Given the description of an element on the screen output the (x, y) to click on. 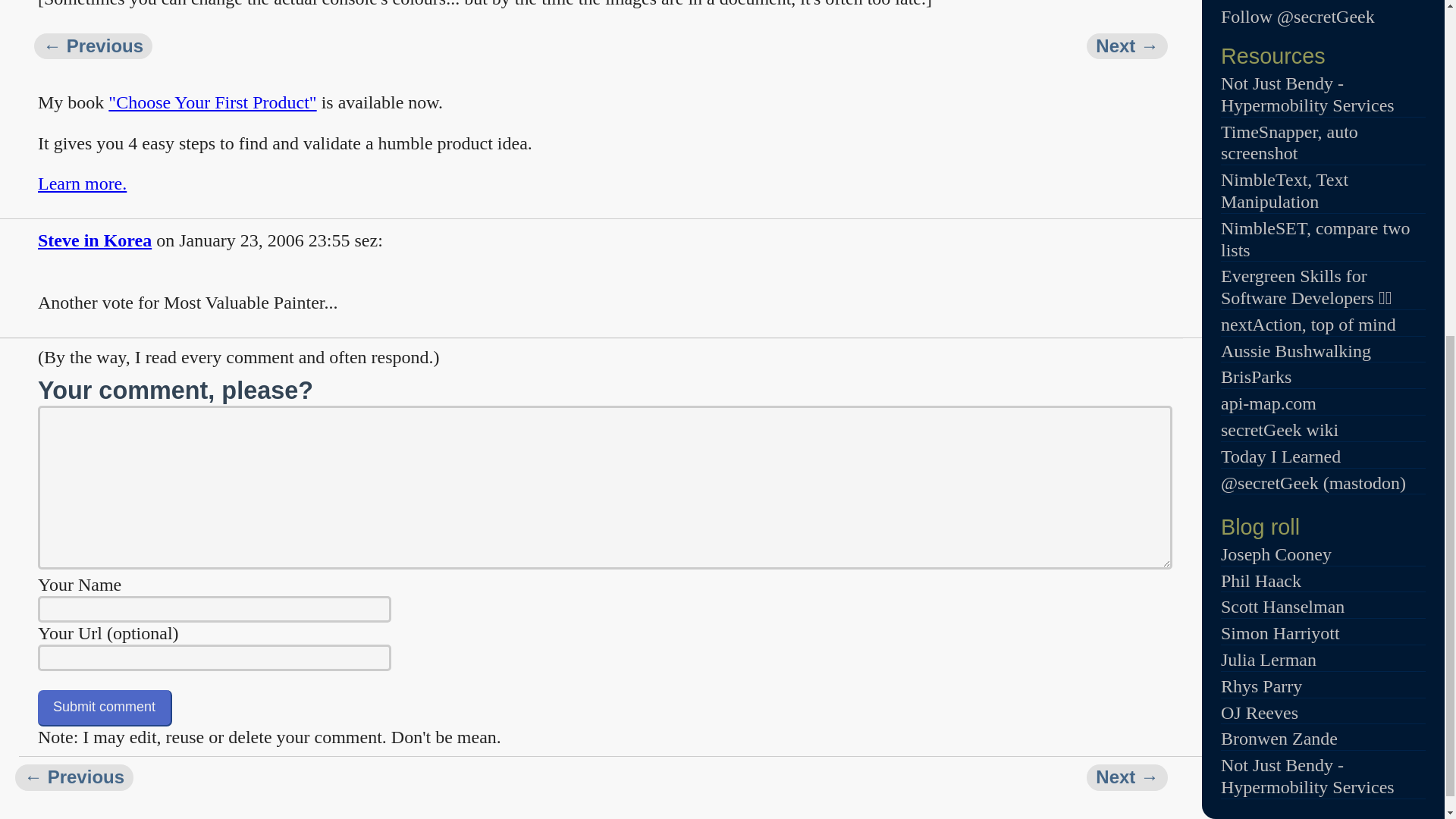
Launch the Code Editor on startup (1126, 46)
Phil Haack (1261, 580)
Scott Hanselman (1282, 606)
BrisParks (1256, 376)
Improve integration with this powerful mapping tool (1268, 403)
Find and recommend the best parks in Brisbane (1256, 376)
NimbleSET, compare two lists (1315, 239)
Julia Lerman (1268, 659)
NimbleText, Text Manipulation (1284, 190)
api-map.com (1268, 403)
Manage the top of your mind (1308, 324)
"Choose Your First Product" (211, 102)
A book (1306, 286)
Rhys Parry (1261, 686)
